Given the description of an element on the screen output the (x, y) to click on. 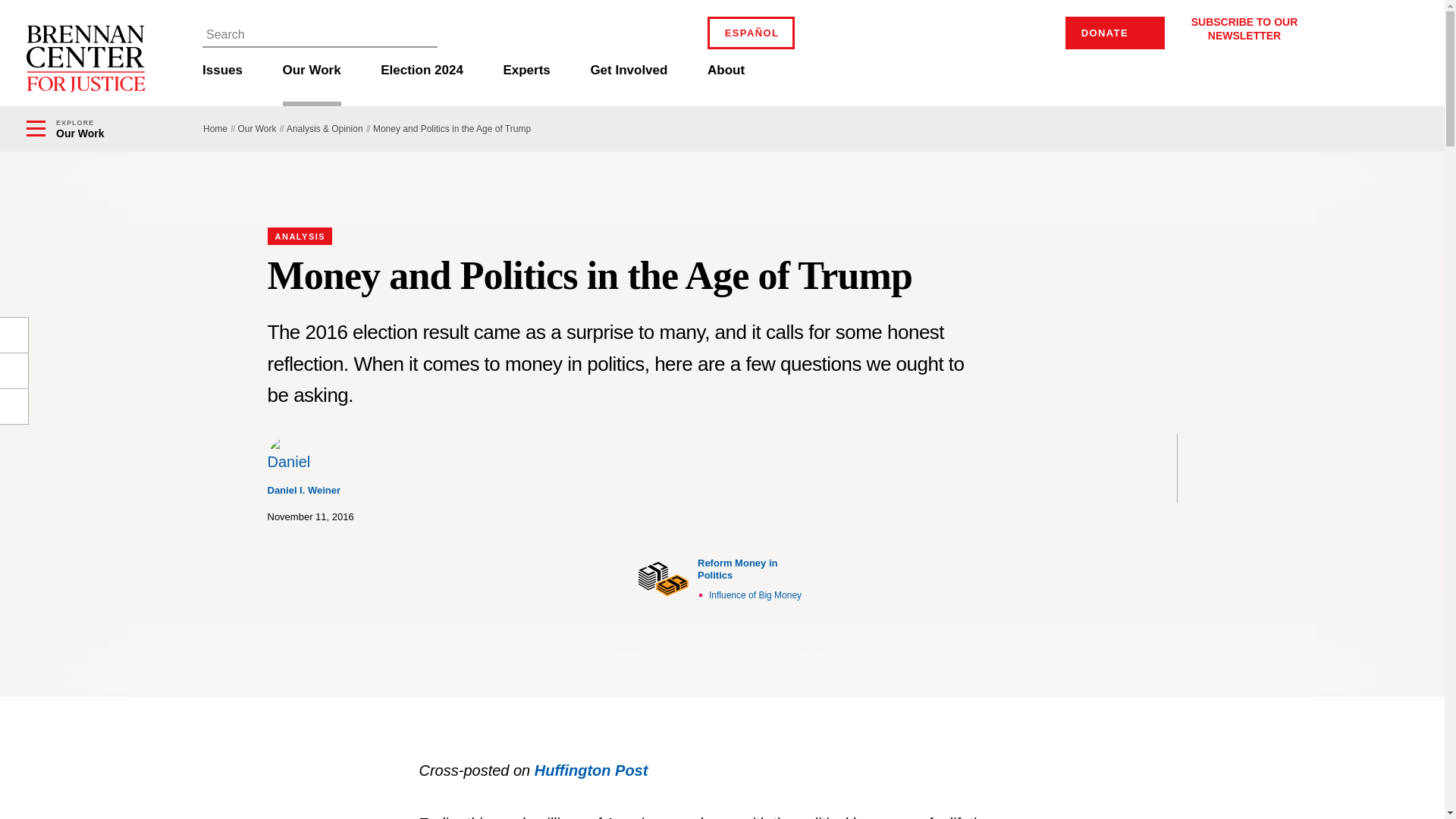
Election 2024 (421, 82)
Get Involved (627, 82)
DONATE (1114, 32)
Search (424, 32)
SUBSCRIBE TO OUR NEWSLETTER (1244, 28)
Experts (526, 82)
Our Work (311, 82)
Coverage of the 2024 U.S. Election (421, 82)
